Given the description of an element on the screen output the (x, y) to click on. 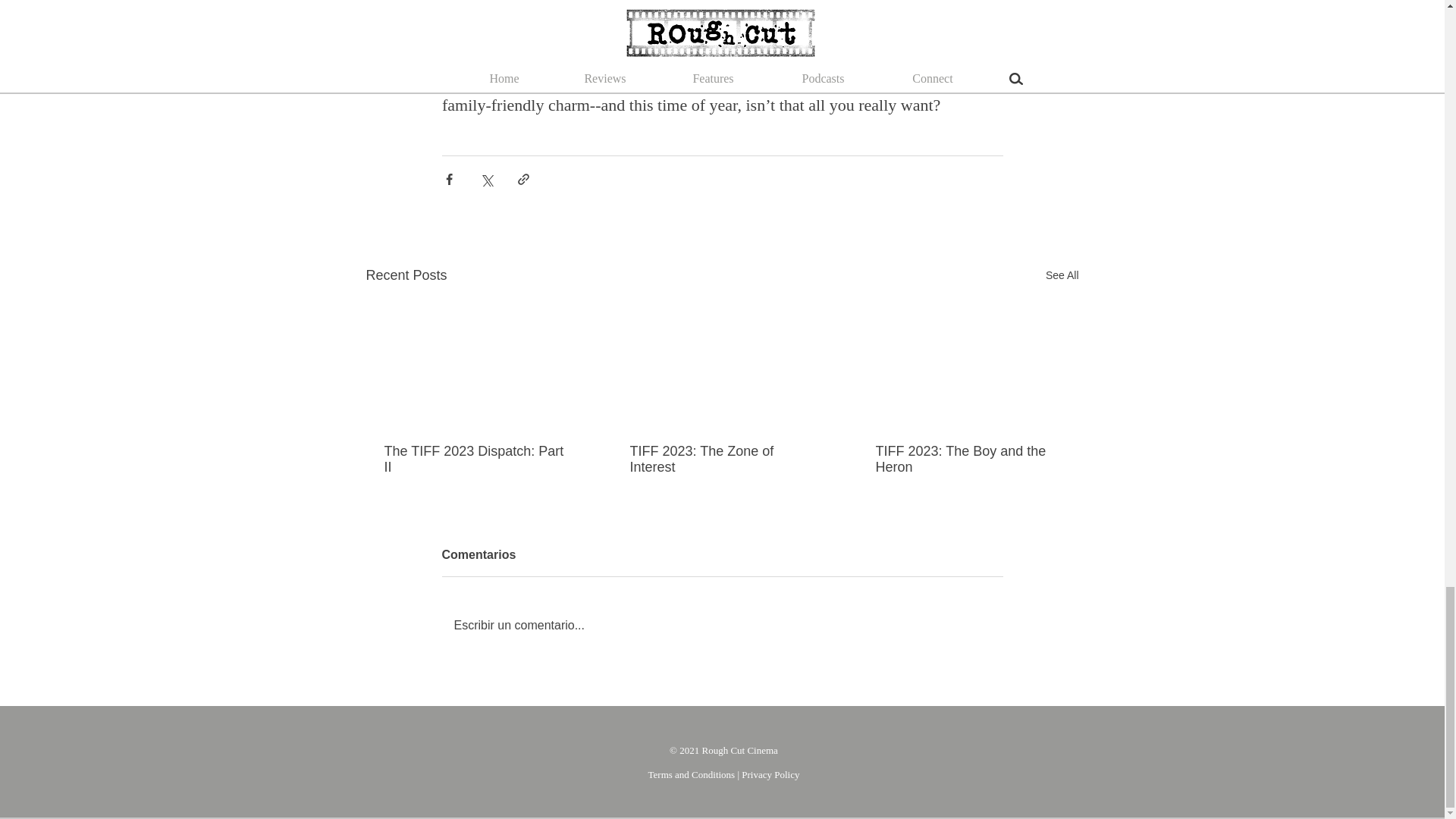
Privacy Policy (770, 774)
TIFF 2023: The Boy and the Heron (966, 459)
Escribir un comentario... (722, 625)
TIFF 2023: The Zone of Interest (720, 459)
Terms and Conditions (691, 774)
The TIFF 2023 Dispatch: Part II (475, 459)
See All (1061, 275)
